Given the description of an element on the screen output the (x, y) to click on. 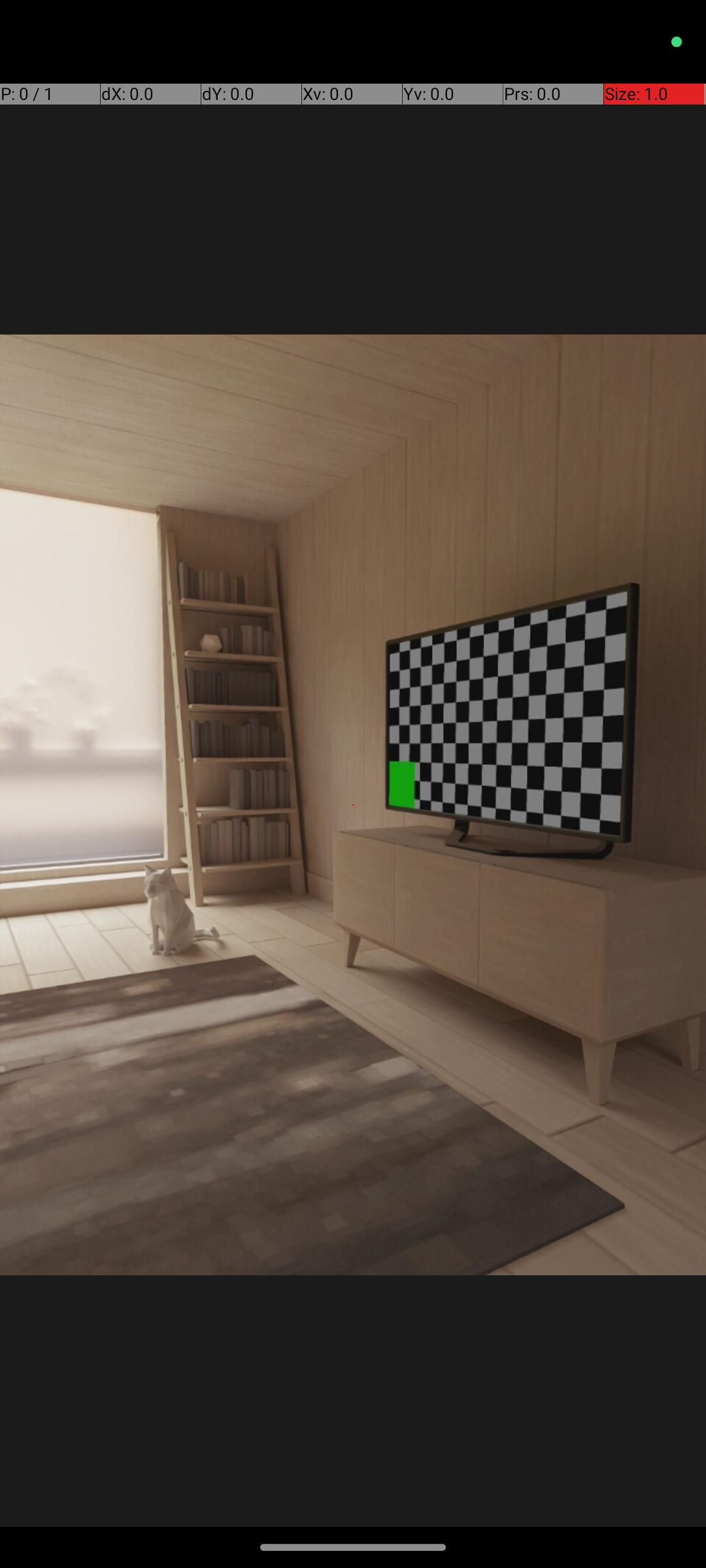
Photo taken on Oct 15, 2023 15:34:17 Element type: android.widget.ImageView (353, 804)
